Given the description of an element on the screen output the (x, y) to click on. 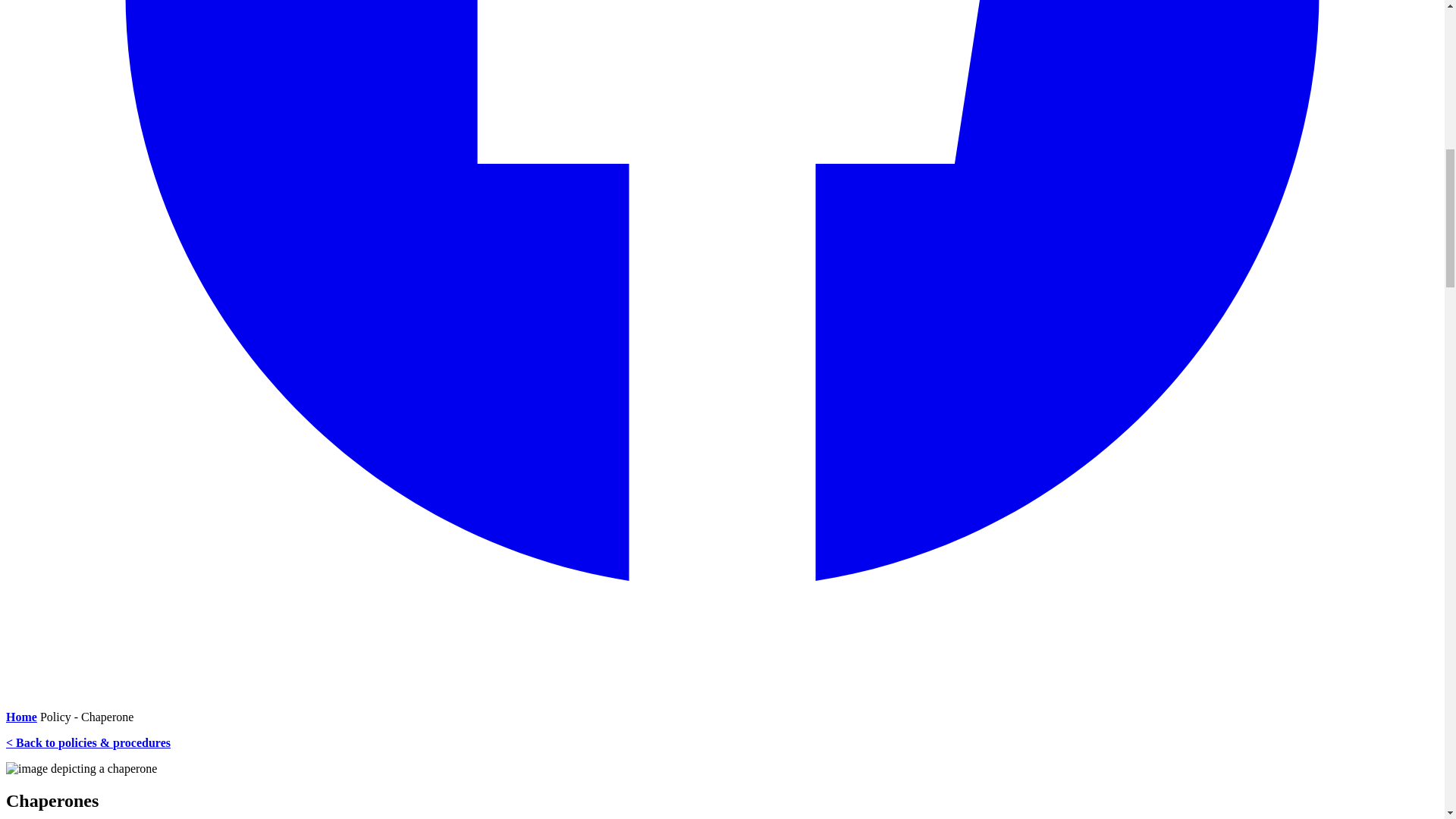
Home (21, 716)
